Given the description of an element on the screen output the (x, y) to click on. 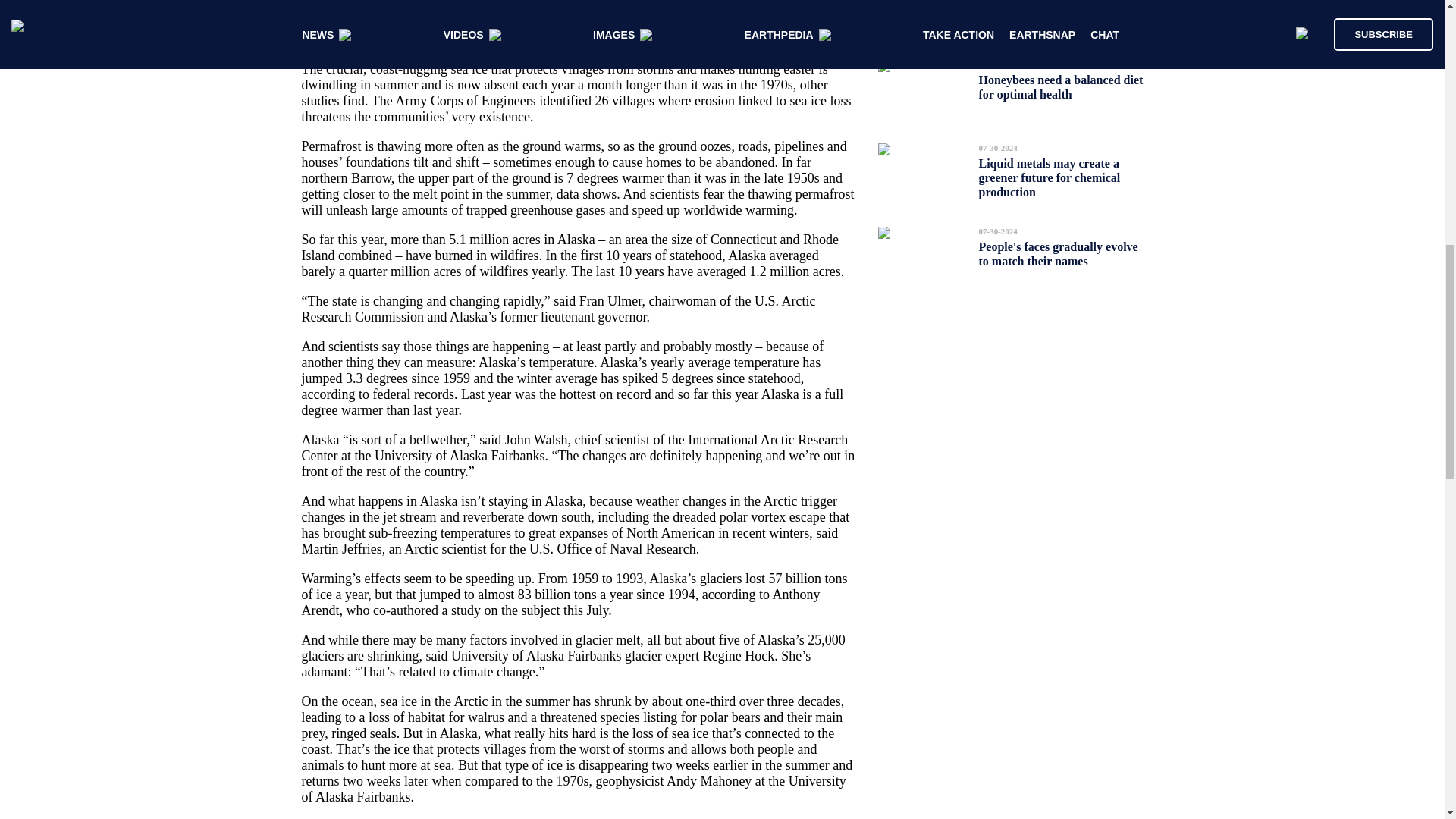
People's faces gradually evolve to match their names (1057, 253)
How life and environment co-evolved over 500 million years (1056, 12)
Olympic (705, 23)
Honeybees need a balanced diet for optimal health (1060, 87)
